Given the description of an element on the screen output the (x, y) to click on. 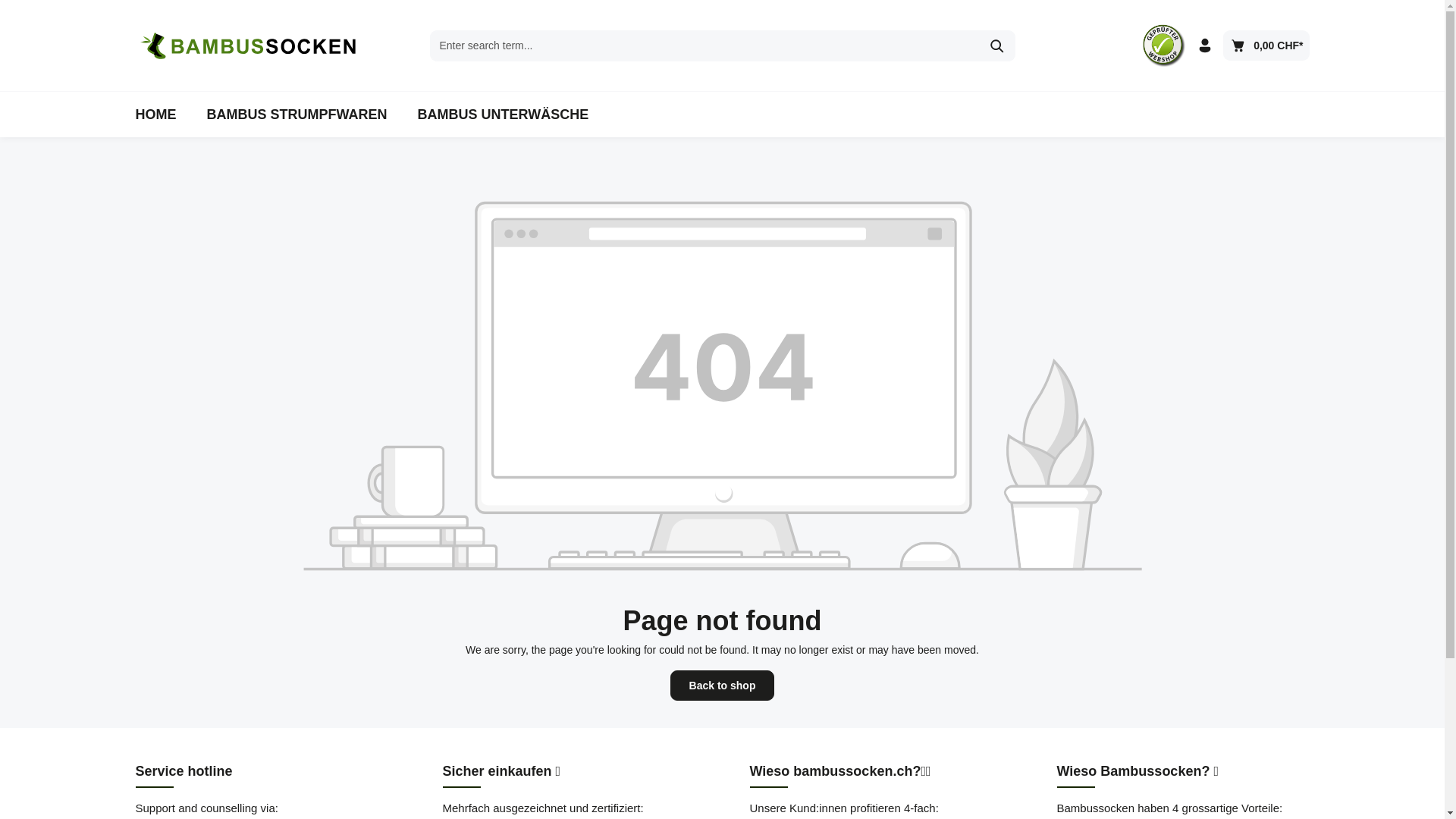
HOME Element type: text (155, 114)
0,00 CHF* Element type: text (1265, 45)
Go to homepage Element type: hover (248, 45)
Back to shop Element type: text (722, 685)
BAMBUS STRUMPFWAREN Element type: text (296, 114)
Your account Element type: hover (1204, 45)
